Given the description of an element on the screen output the (x, y) to click on. 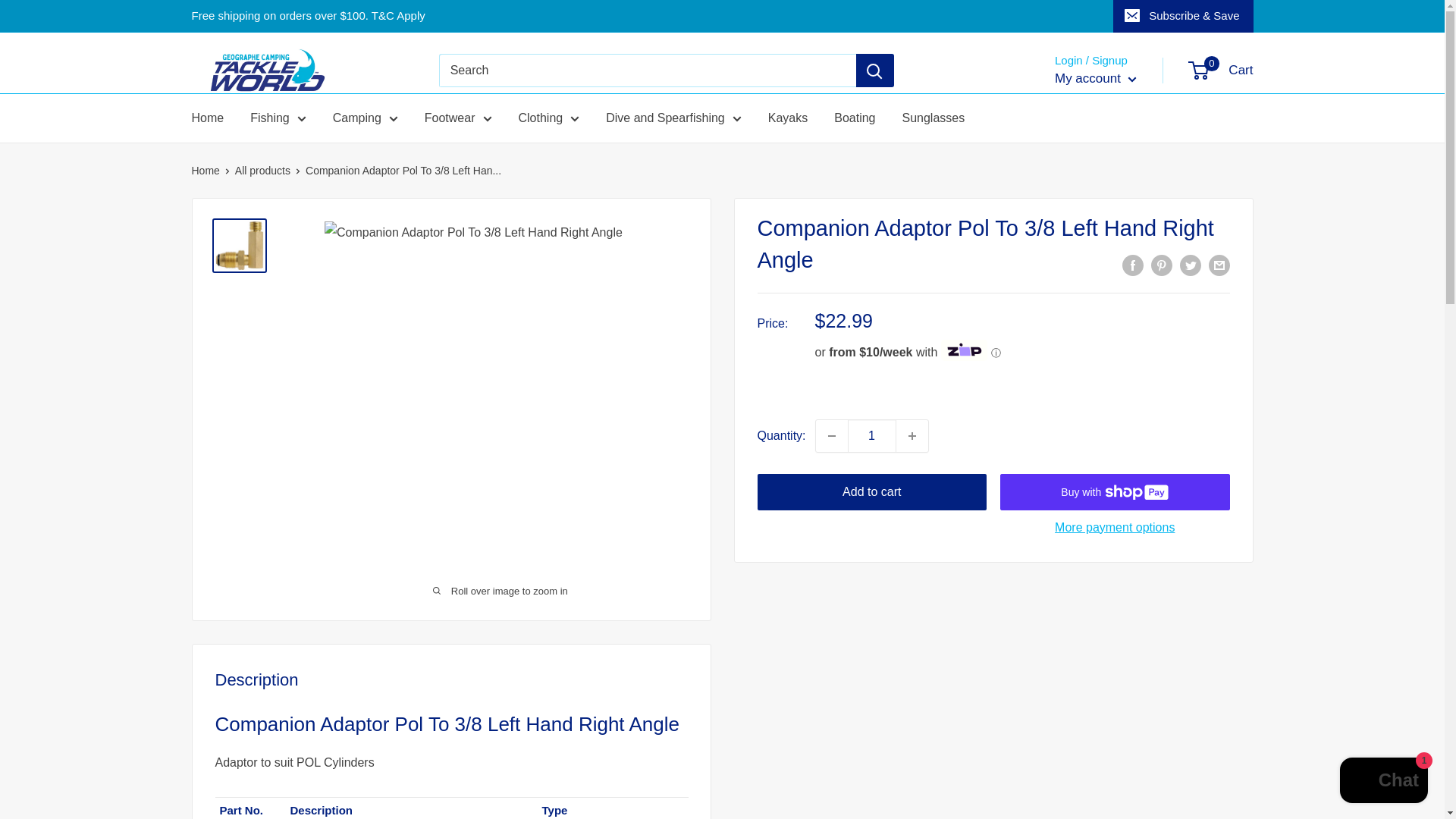
1 (871, 436)
Shopify online store chat (1383, 781)
Increase quantity by 1 (912, 436)
Decrease quantity by 1 (831, 436)
